Given the description of an element on the screen output the (x, y) to click on. 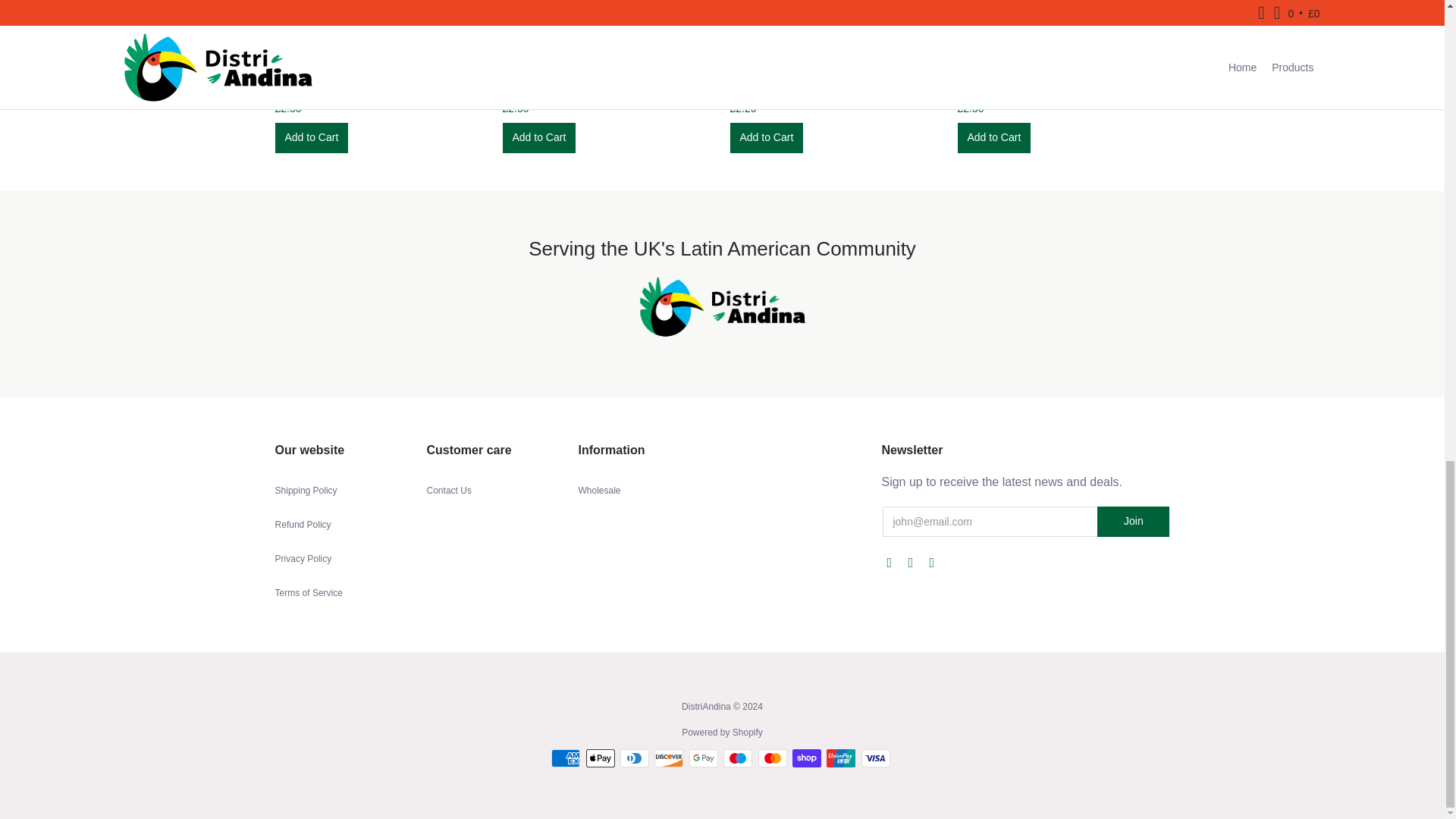
Add to Cart (311, 137)
Google Pay (702, 758)
Add to Cart (311, 137)
Apple Pay (600, 758)
Shop Pay (806, 758)
American Express (565, 758)
Add to Cart (538, 137)
Join (1133, 521)
Add to Cart (993, 137)
Discover (667, 758)
Union Pay (841, 758)
Visa (875, 758)
Mastercard (772, 758)
Maestro (737, 758)
Diners Club (634, 758)
